Given the description of an element on the screen output the (x, y) to click on. 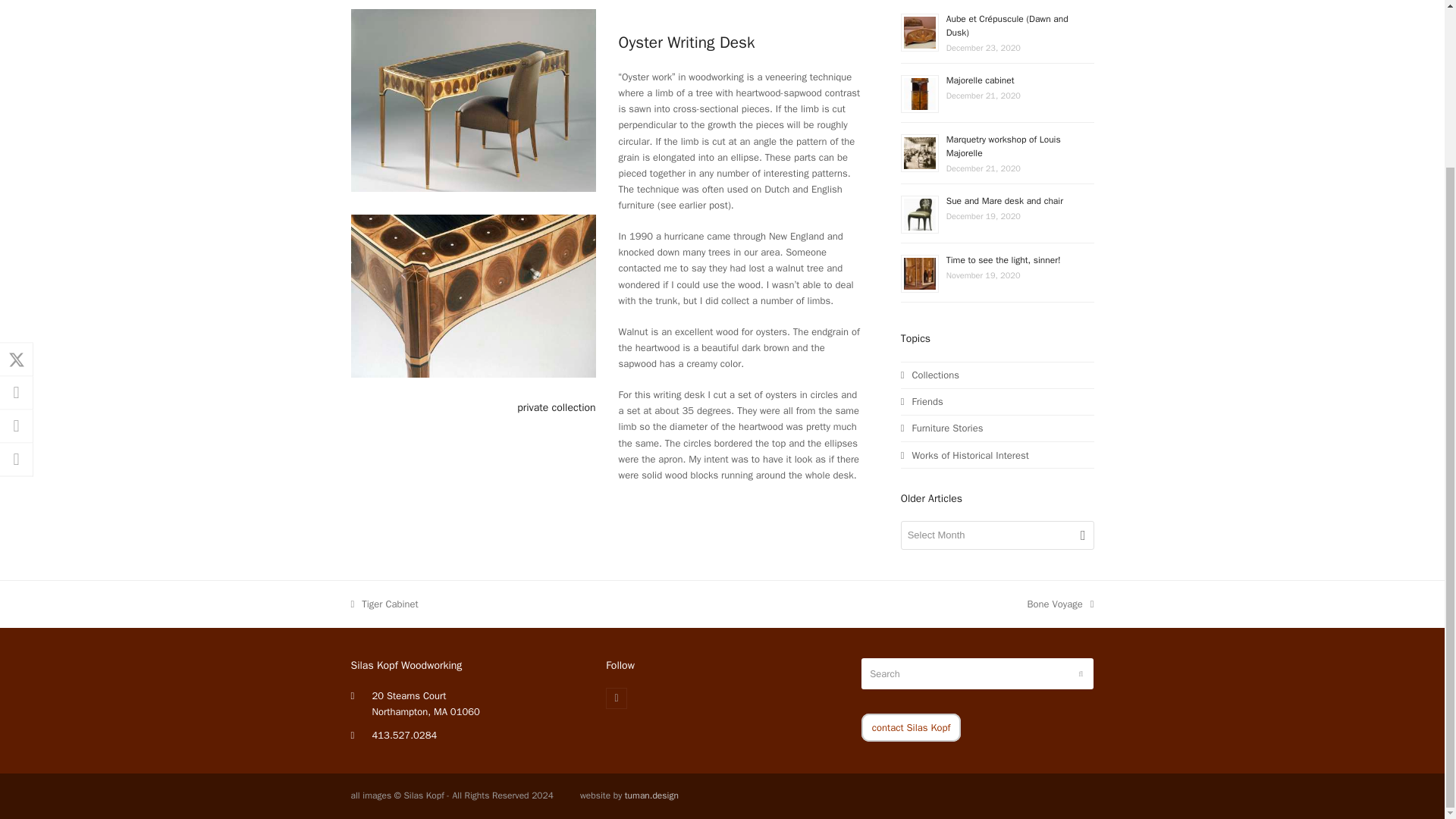
Time to see the light, sinner! (1003, 259)
Friends (922, 400)
Majorelle cabinet (980, 80)
oyster writing table (472, 100)
Collections (930, 374)
Marquetry workshop of Louis Majorelle (1003, 145)
Sue and Mare desk and chair (1004, 200)
oyster desk detail (472, 295)
Facebook (616, 698)
